Given the description of an element on the screen output the (x, y) to click on. 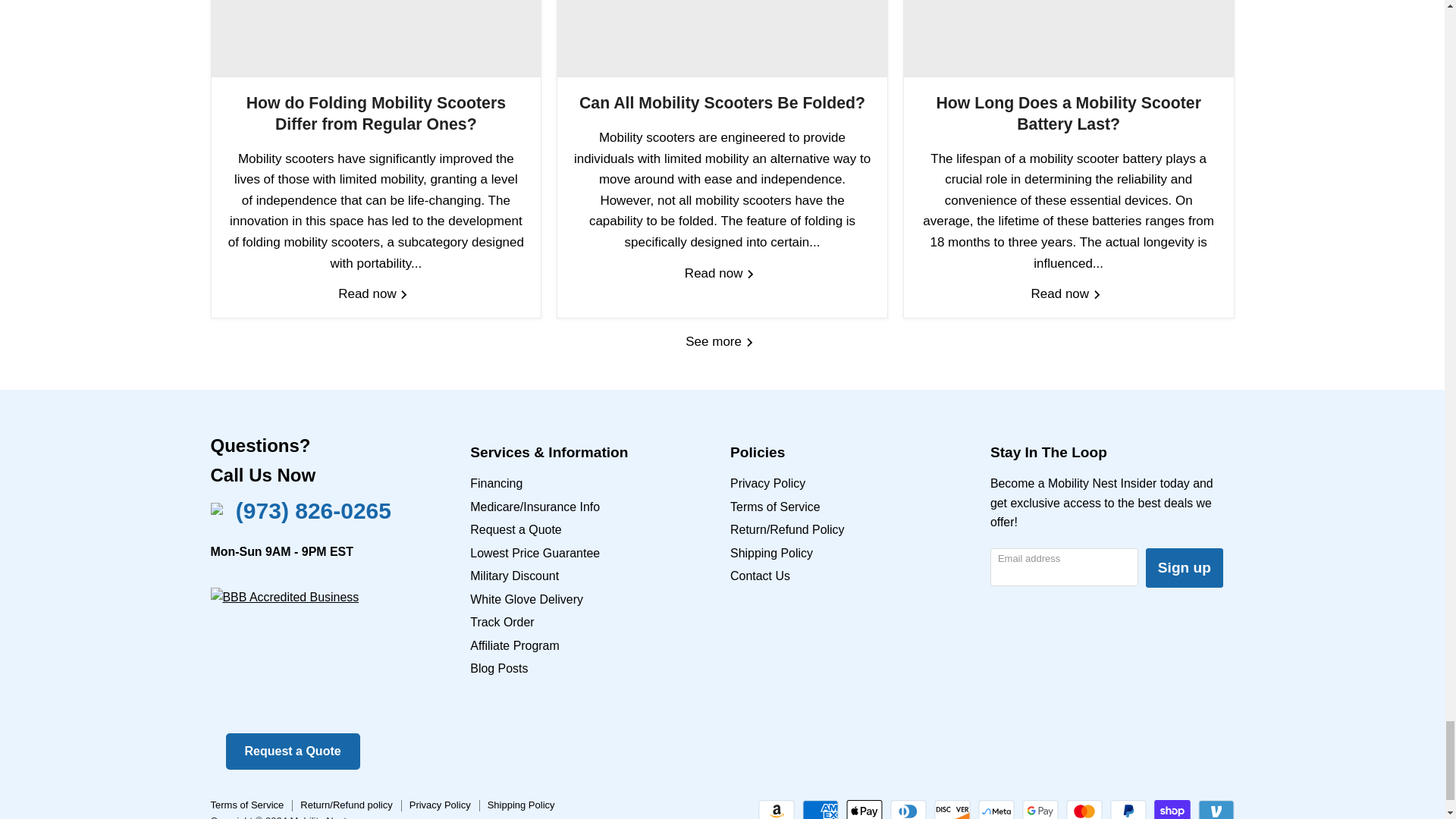
Discover (952, 809)
Mastercard (1083, 809)
PayPal (1128, 809)
Apple Pay (863, 809)
Meta Pay (996, 809)
Diners Club (907, 809)
Google Pay (1040, 809)
Amazon (776, 809)
American Express (820, 809)
